Given the description of an element on the screen output the (x, y) to click on. 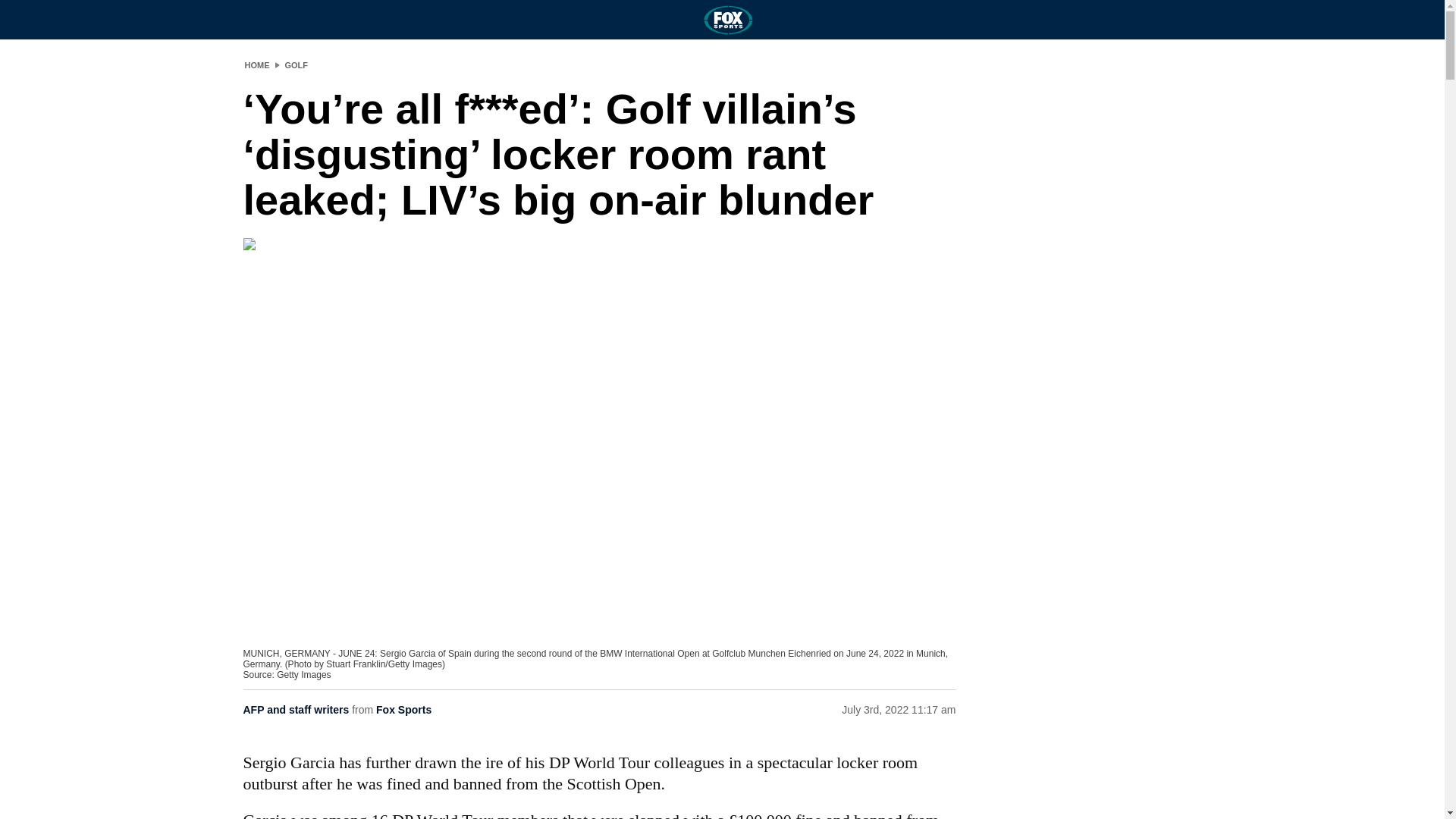
GOLF (296, 64)
HOME (256, 64)
